Given the description of an element on the screen output the (x, y) to click on. 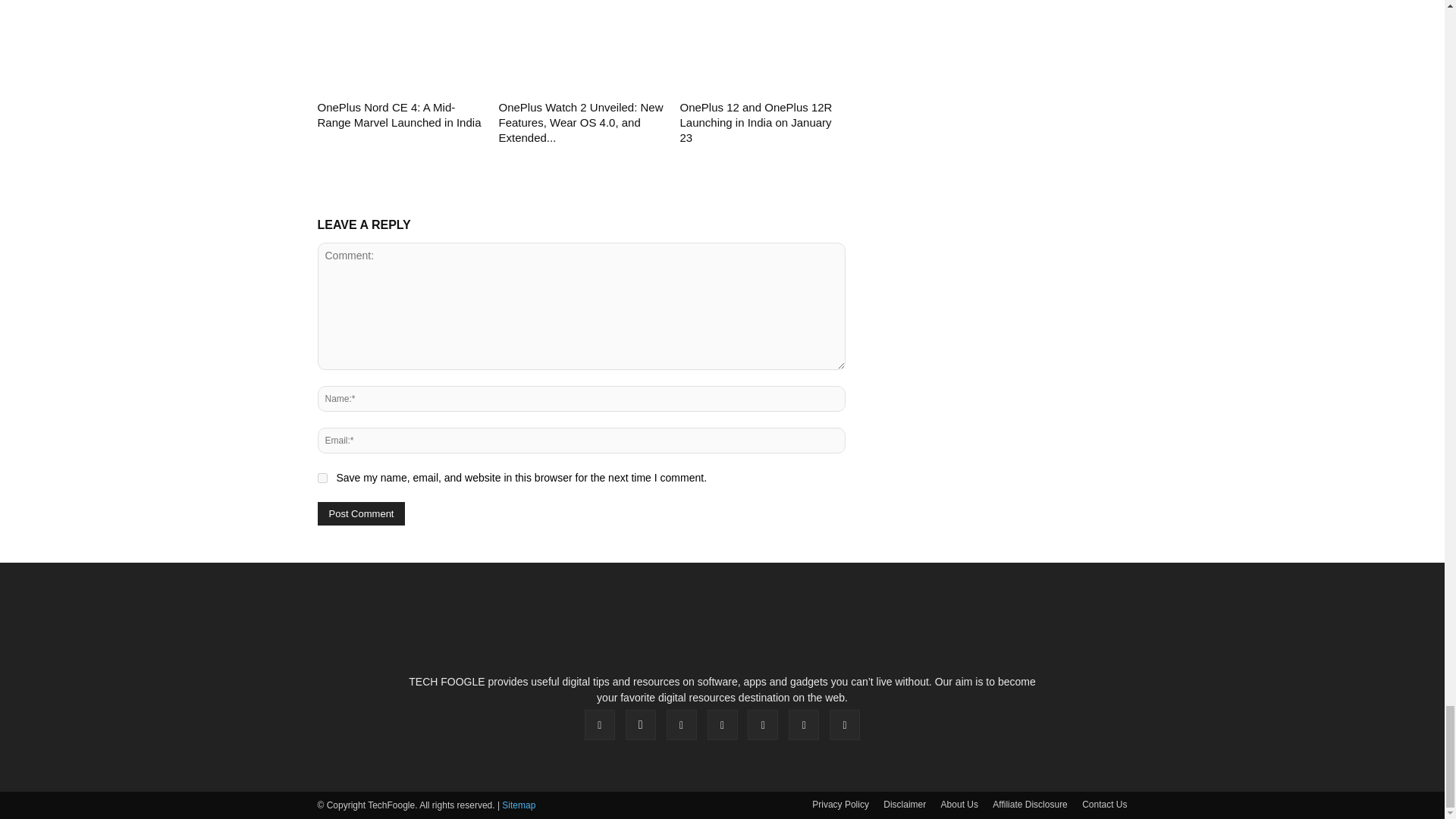
yes (321, 478)
Post Comment (360, 513)
